Given the description of an element on the screen output the (x, y) to click on. 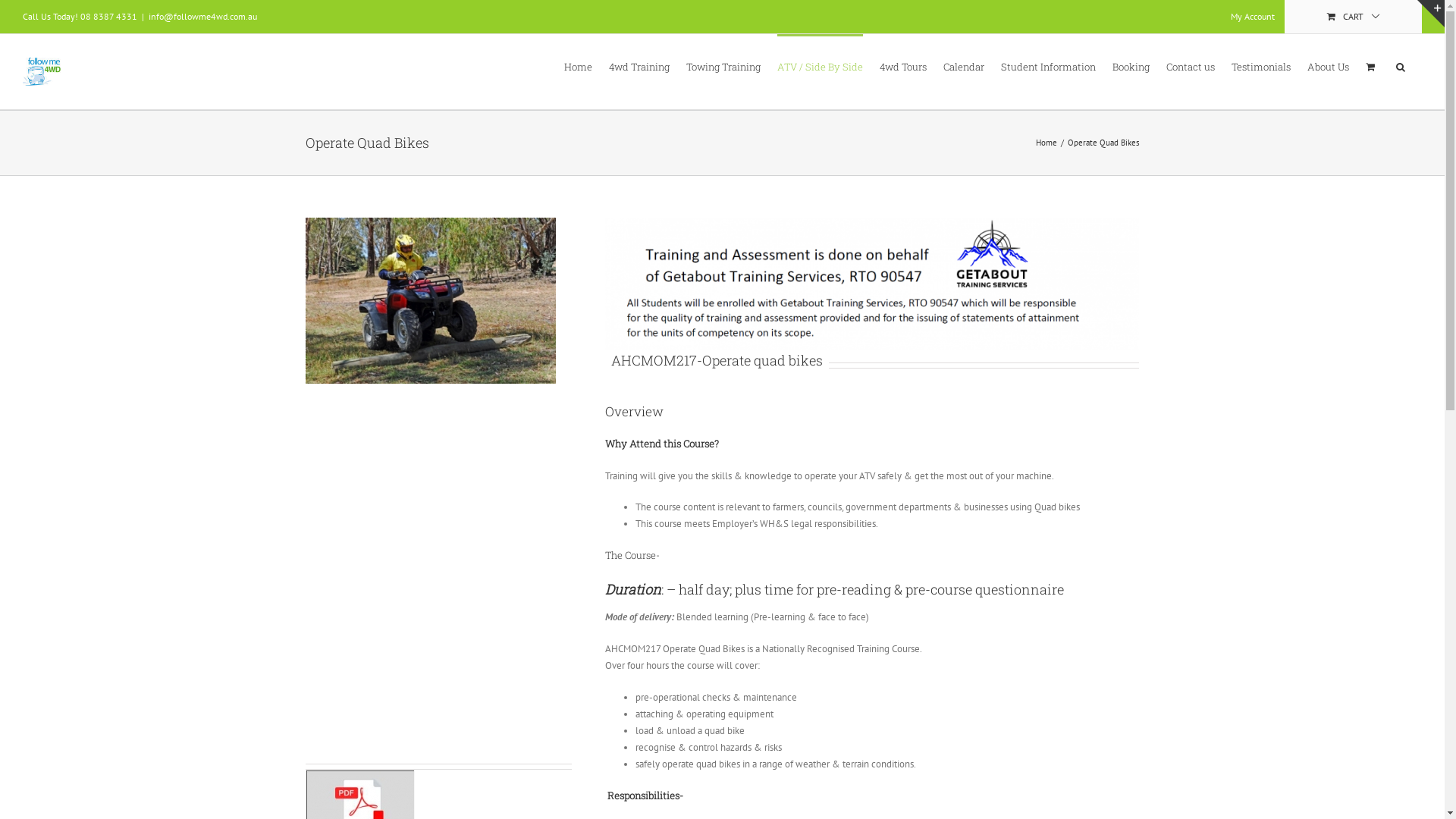
Calendar Element type: text (963, 65)
My Account Element type: text (1252, 16)
Log In Element type: text (1313, 158)
GTS Tag Line Element type: hover (872, 282)
Contact us Element type: text (1190, 65)
Testimonials Element type: text (1260, 65)
4wd Training Element type: text (638, 65)
Booking Element type: text (1130, 65)
Toggle Sliding Bar Area Element type: text (1430, 13)
CART Element type: text (1353, 16)
ATV / Side By Side Element type: text (819, 65)
Home Element type: text (578, 65)
Quad Element type: hover (429, 299)
Search Element type: hover (1400, 65)
4wd Tours Element type: text (902, 65)
info@followme4wd.com.au Element type: text (202, 15)
Student Information Element type: text (1048, 65)
Home Element type: text (1046, 142)
About Us Element type: text (1328, 65)
Towing Training Element type: text (723, 65)
